Given the description of an element on the screen output the (x, y) to click on. 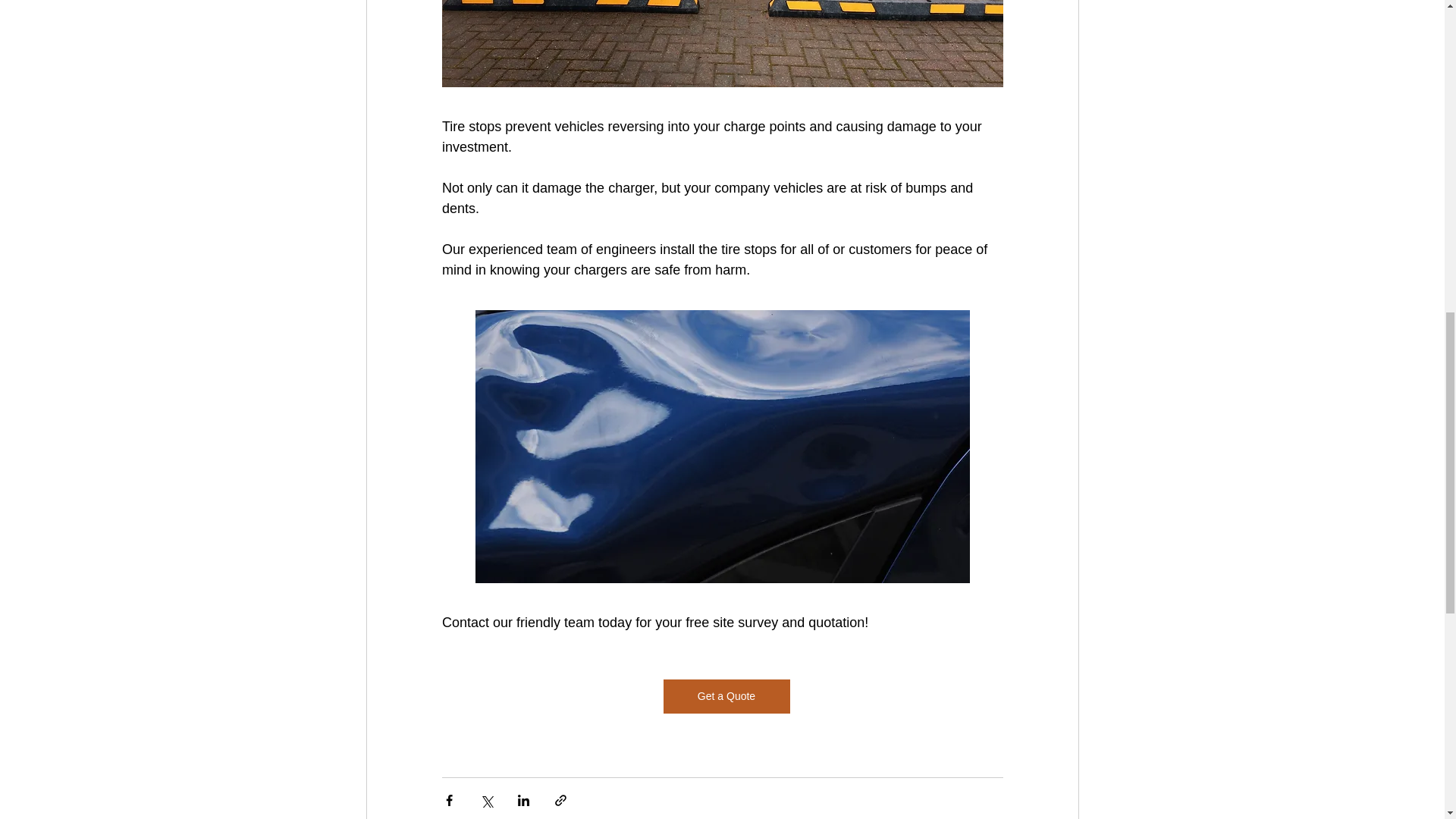
Get a Quote (725, 696)
